Given the description of an element on the screen output the (x, y) to click on. 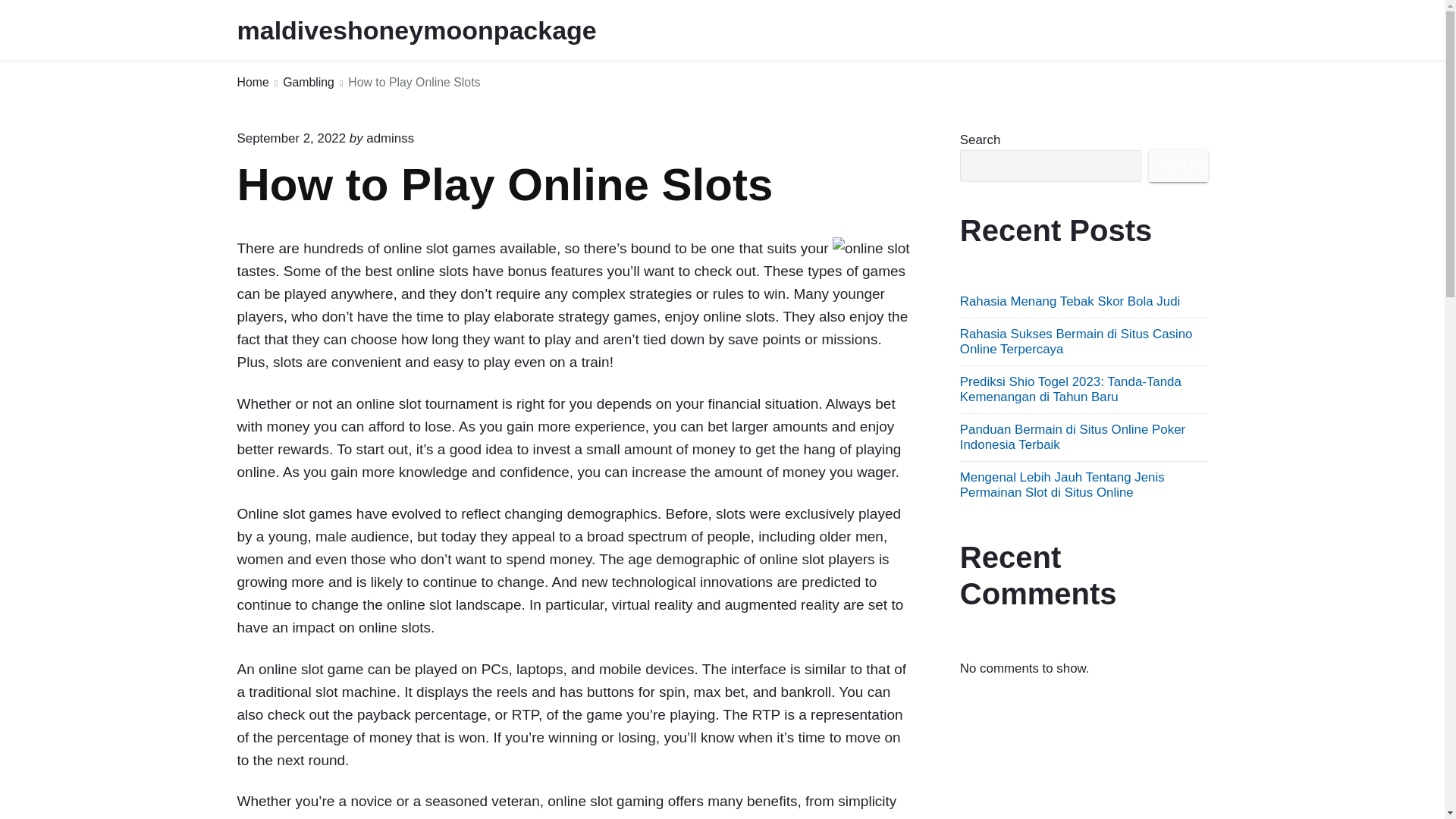
Rahasia Sukses Bermain di Situs Casino Online Terpercaya (1075, 341)
Rahasia Menang Tebak Skor Bola Judi (1069, 301)
Panduan Bermain di Situs Online Poker Indonesia Terbaik (1072, 437)
Gambling (308, 82)
SEARCH (1178, 165)
Friday, September 2, 2022, 5:53 am (290, 138)
maldiveshoneymoonpackage (436, 30)
Posts by adminss (389, 138)
adminss (389, 138)
Home (251, 82)
